Given the description of an element on the screen output the (x, y) to click on. 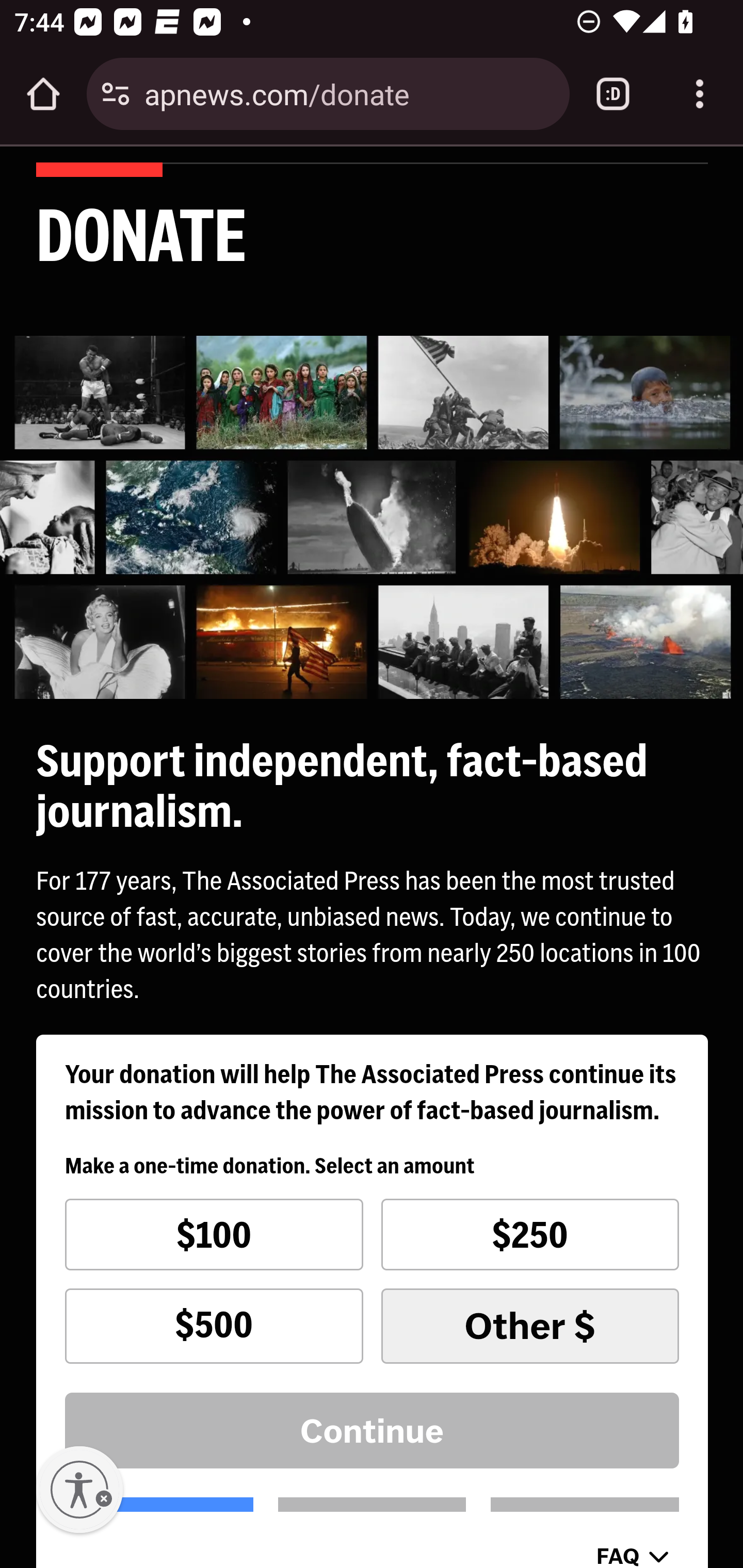
Open the home page (43, 93)
Connection is secure (115, 93)
Switch or close tabs (612, 93)
Customize and control Google Chrome (699, 93)
apnews.com/donate (349, 92)
Other $ (529, 1325)
Continue (372, 1430)
Enable accessibility (79, 1490)
FAQ    (632, 1553)
